Given the description of an element on the screen output the (x, y) to click on. 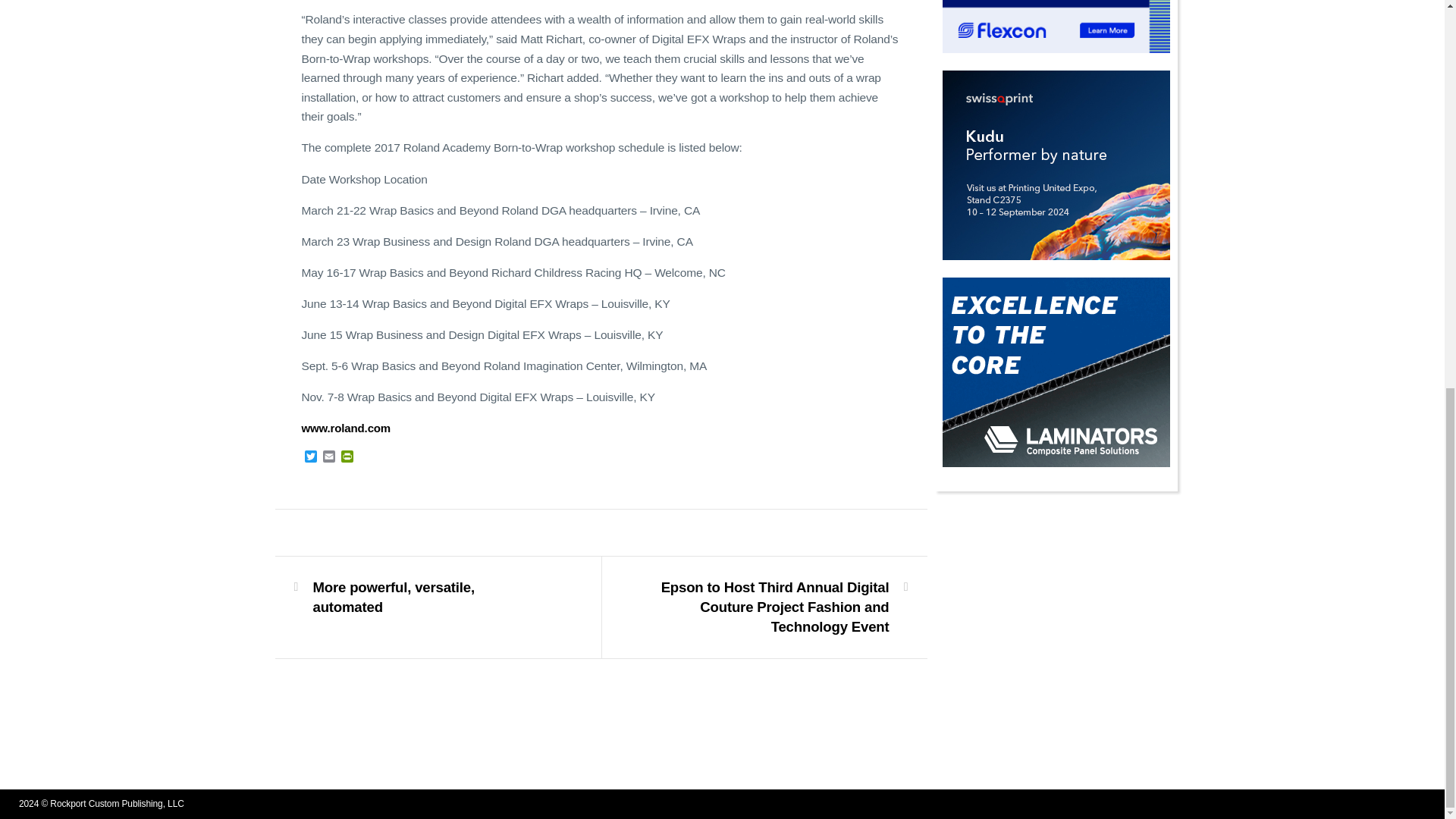
PrintFriendly (346, 457)
Previous (428, 597)
Next (773, 607)
Twitter (310, 457)
More powerful, versatile, automated (428, 597)
www.roland.com (346, 427)
PrintFriendly (346, 457)
Twitter (310, 457)
Email (328, 457)
Email (328, 457)
